Given the description of an element on the screen output the (x, y) to click on. 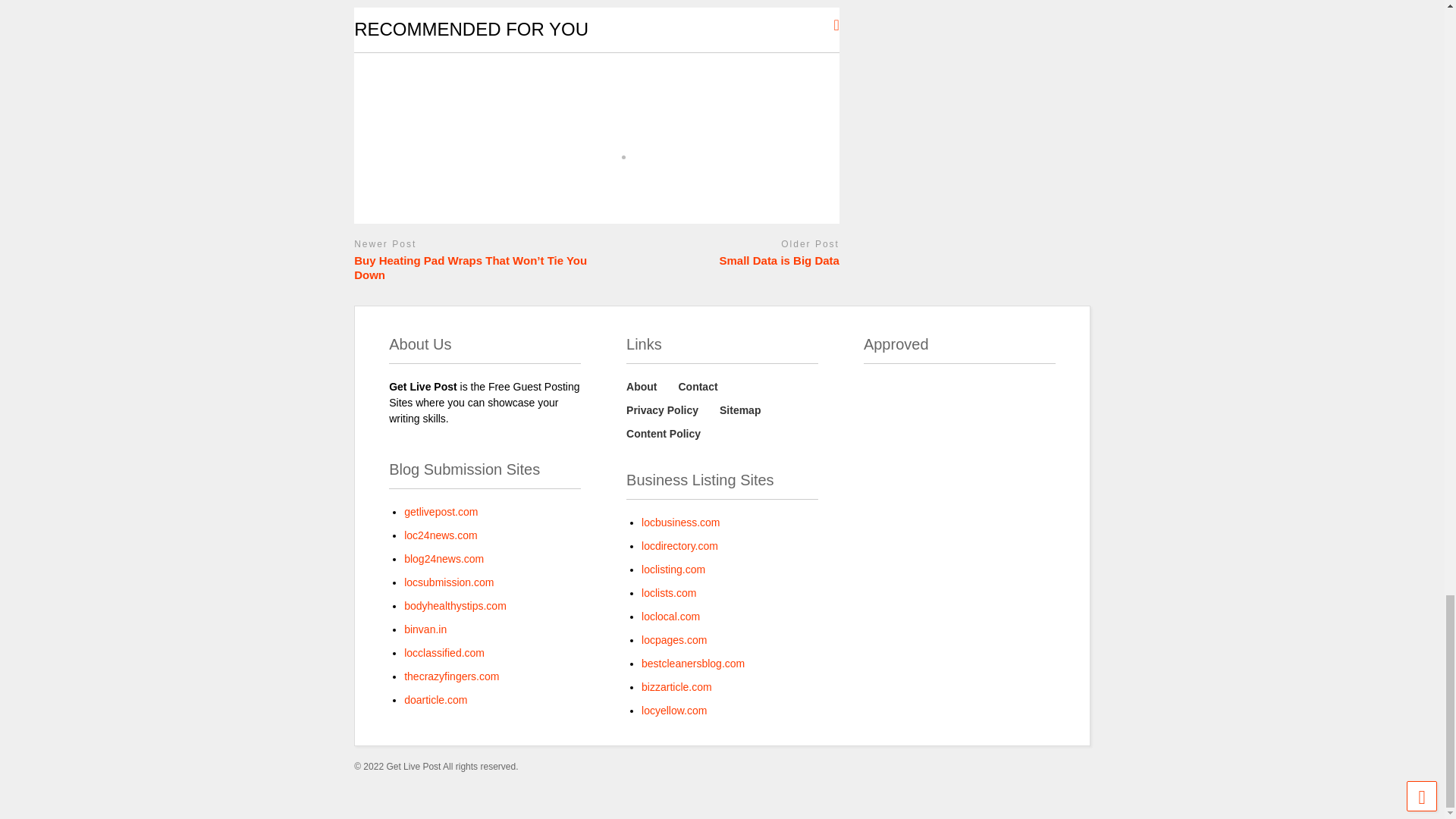
Small Data is Big Data (722, 260)
